Given the description of an element on the screen output the (x, y) to click on. 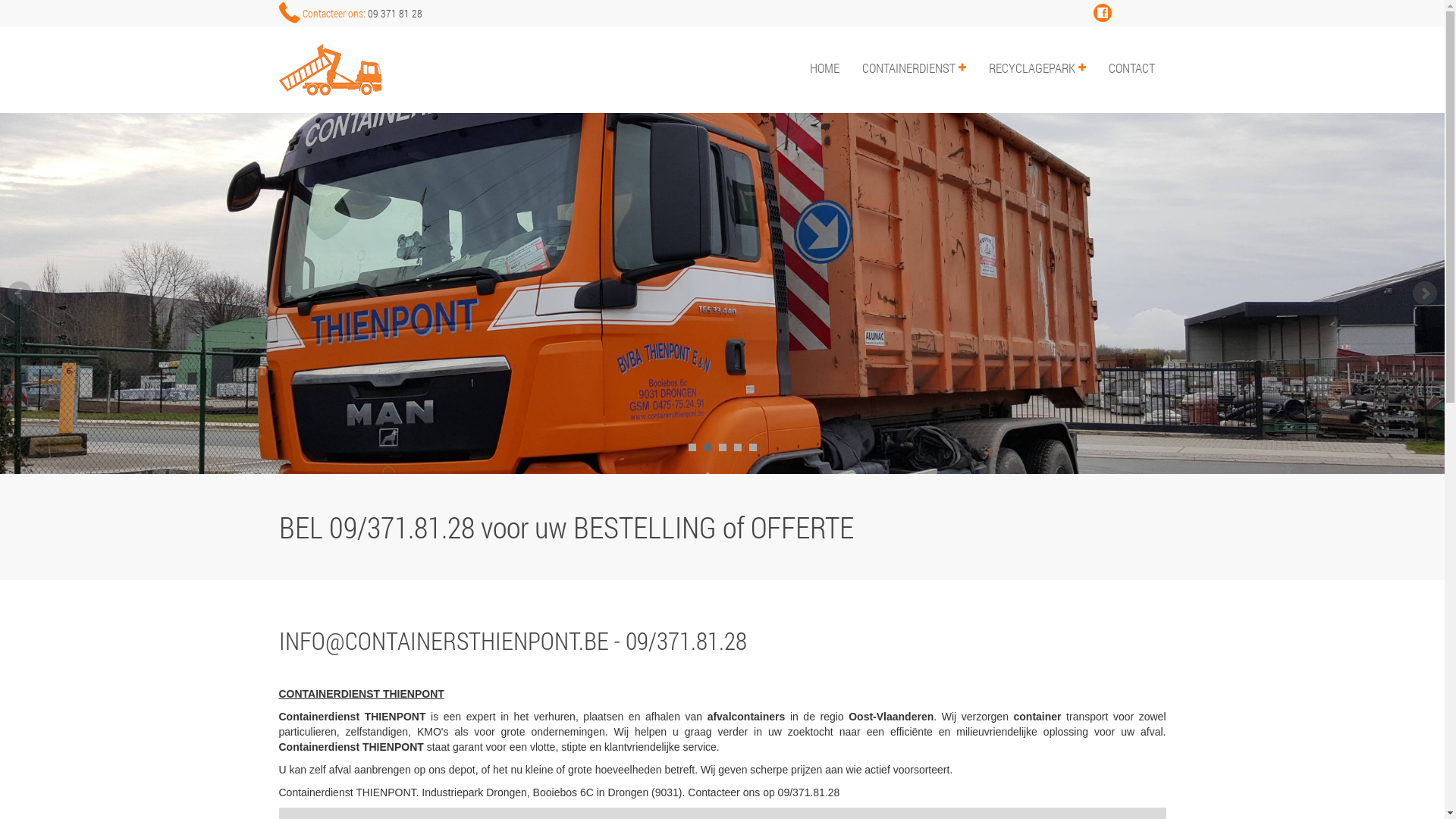
4 Element type: text (737, 447)
Next Element type: text (1424, 293)
2 Element type: text (707, 447)
CONTAINERDIENST Element type: text (913, 68)
1 Element type: text (692, 447)
RECYCLAGEPARK Element type: text (1036, 68)
Prev Element type: text (19, 293)
5 Element type: text (752, 447)
3 Element type: text (722, 447)
CONTACT Element type: text (1130, 68)
HOME Element type: text (823, 68)
